Given the description of an element on the screen output the (x, y) to click on. 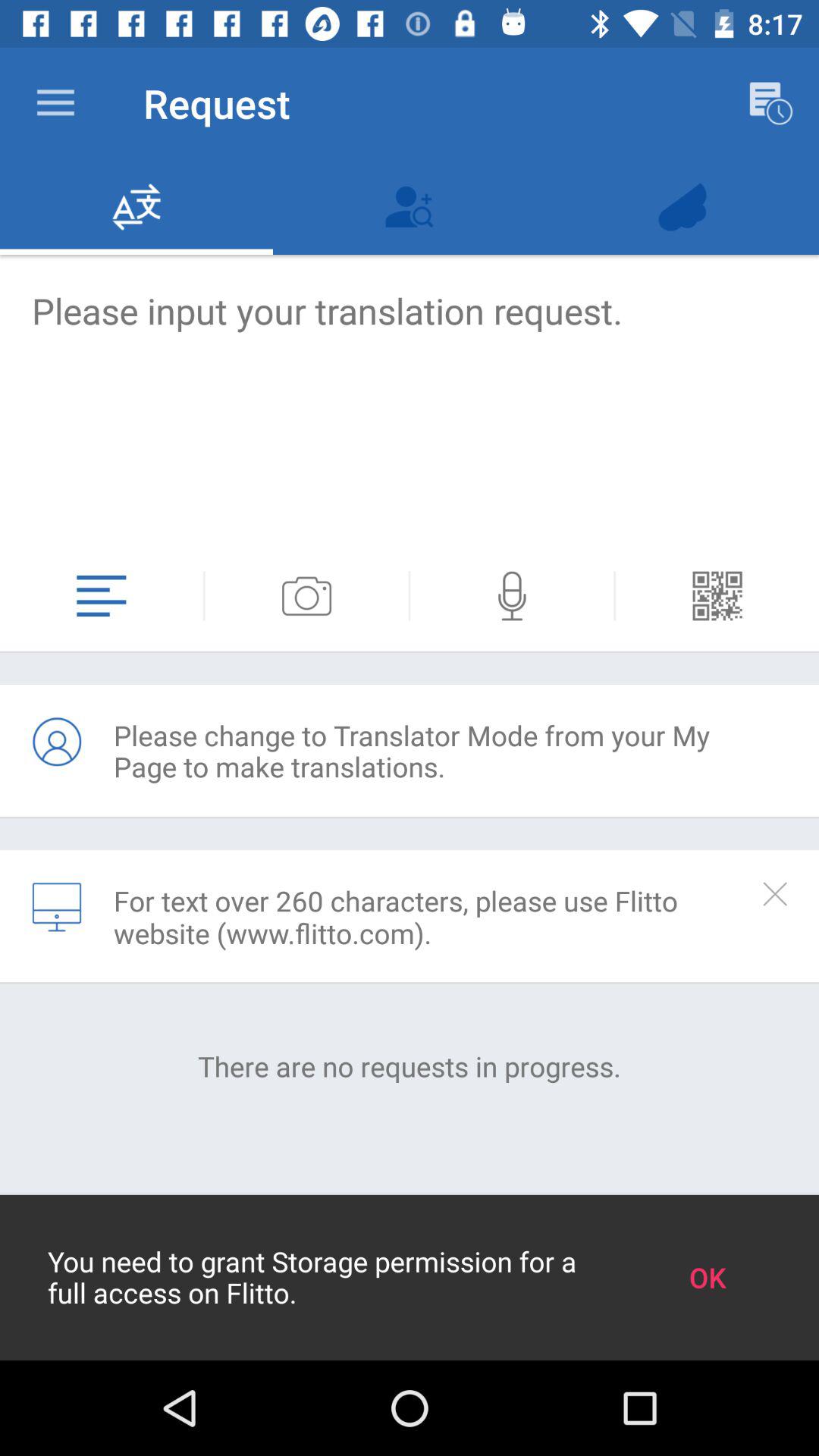
turn off icon below please input your app (717, 596)
